Given the description of an element on the screen output the (x, y) to click on. 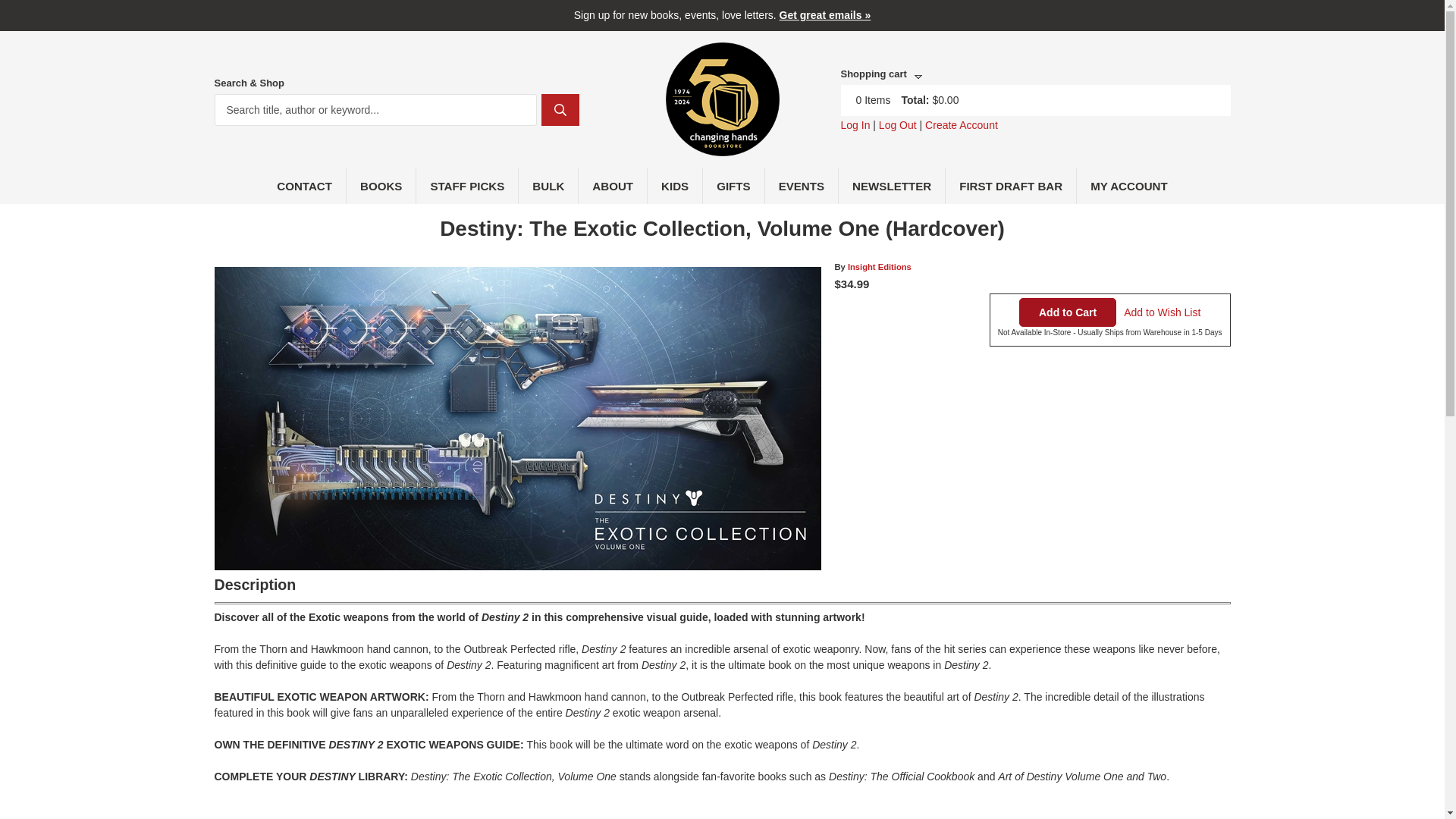
BOOKS (381, 185)
ABOUT (612, 185)
Create Account (960, 124)
Home page (721, 147)
BULK (548, 185)
Log In (854, 124)
Log Out (898, 124)
Add to Cart (1067, 312)
CONTACT (304, 185)
